Given the description of an element on the screen output the (x, y) to click on. 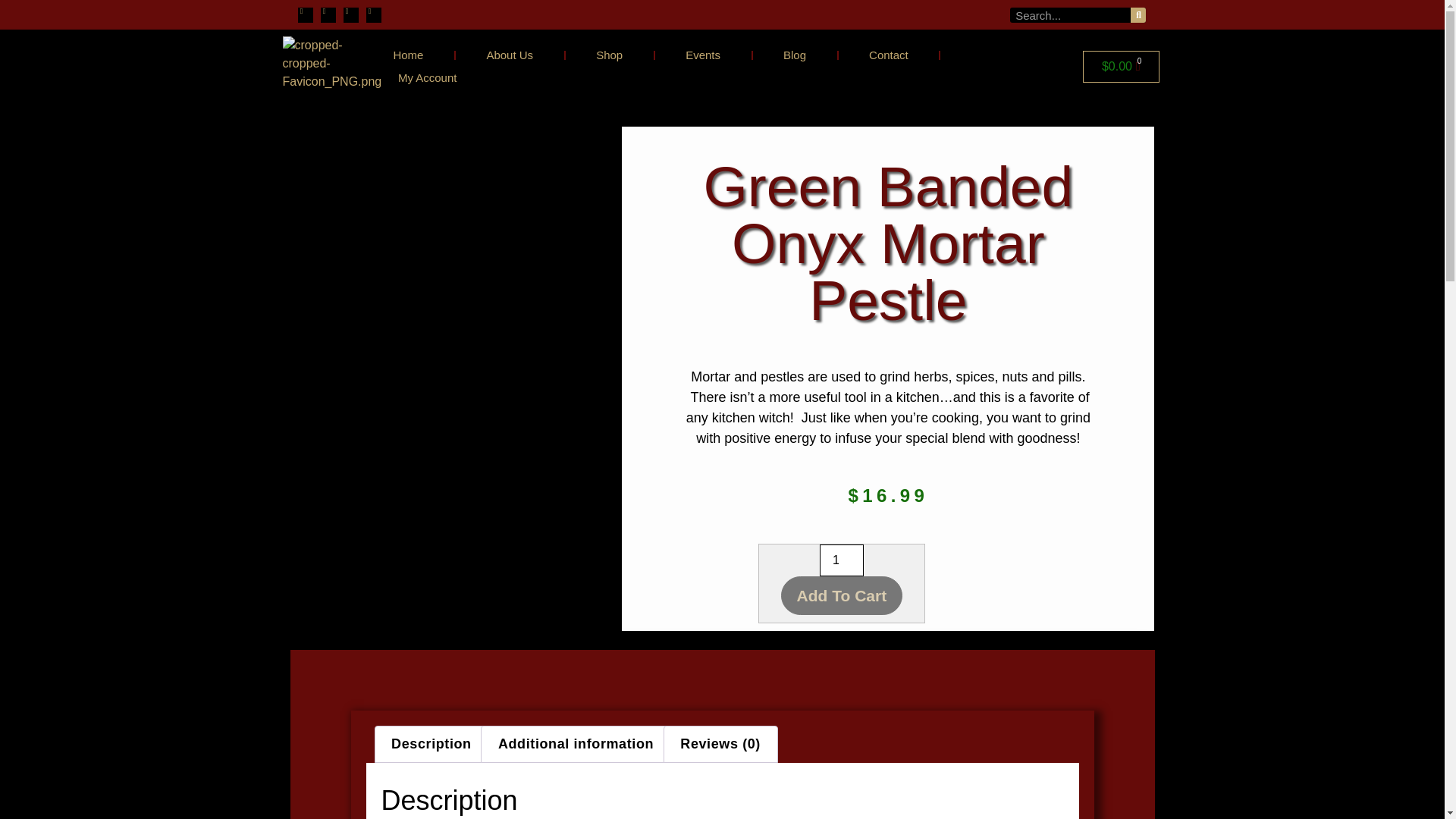
About Us (509, 55)
Shop (608, 55)
1 (841, 560)
Home (407, 55)
